Given the description of an element on the screen output the (x, y) to click on. 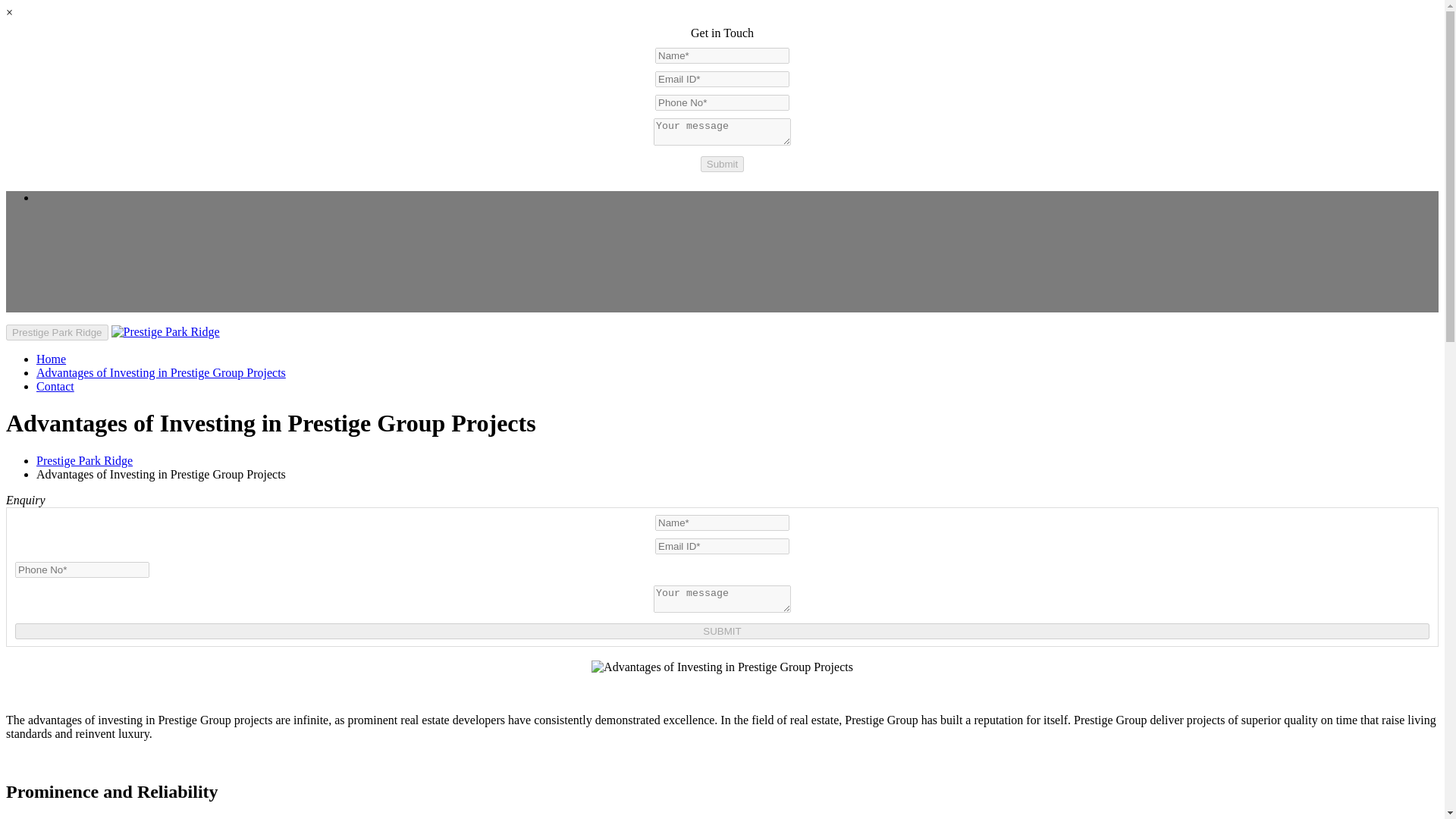
Home (50, 358)
Prestige Park Ridge (84, 460)
Prestige Park Ridge (165, 331)
SUBMIT (721, 631)
Advantages of Investing in Prestige Group Projects (160, 372)
Submit (722, 163)
Prestige Park Ridge Contact (55, 386)
Contact (55, 386)
Advantages of Investing in Prestige Group Projects (160, 372)
Prestige Park Ridge (50, 358)
Advantages of Investing in Prestige Group Projects (722, 667)
Prestige Park Ridge (56, 332)
